Given the description of an element on the screen output the (x, y) to click on. 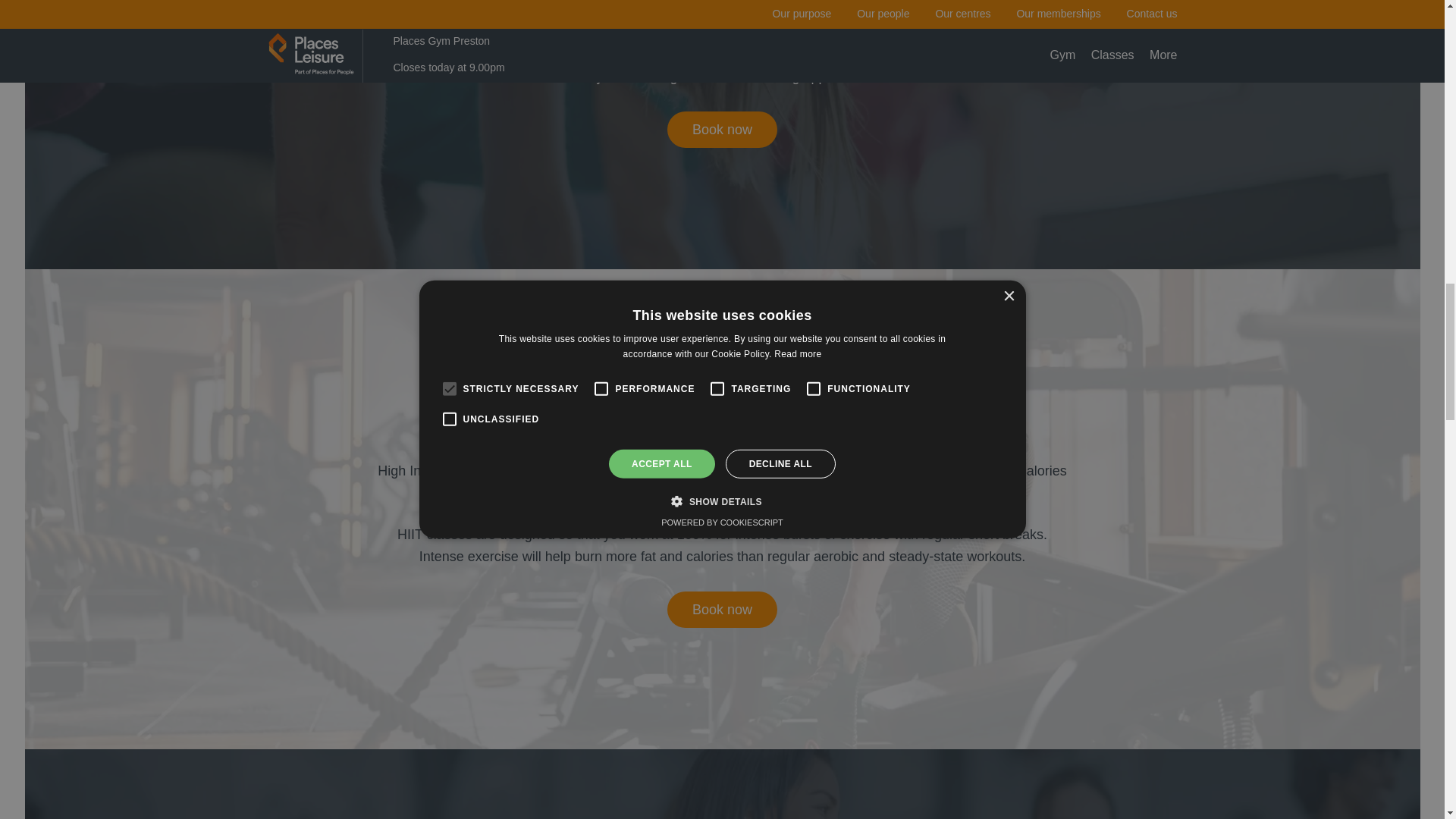
Book now (722, 129)
Book now (722, 609)
